Given the description of an element on the screen output the (x, y) to click on. 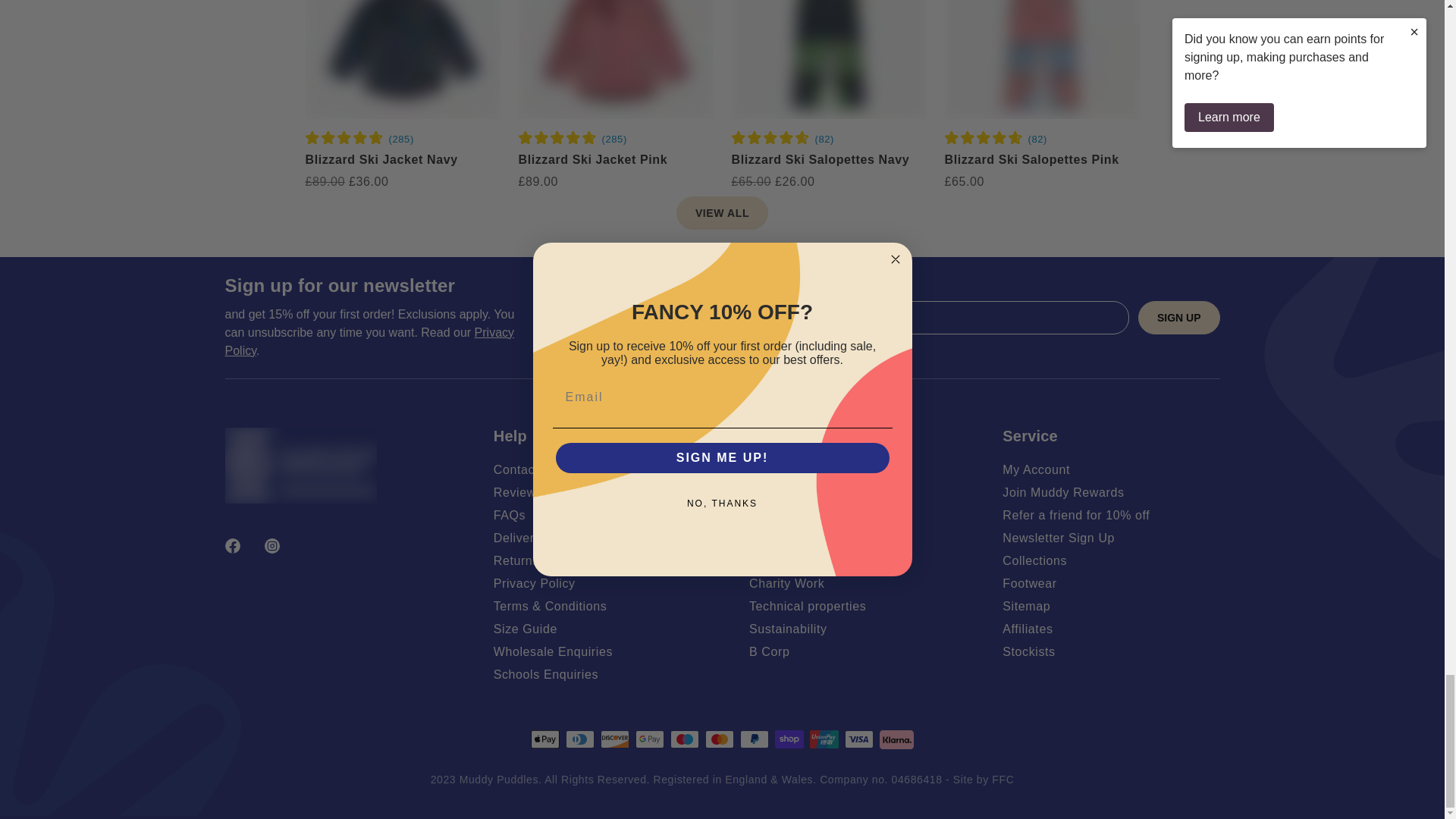
Union Pay (823, 739)
Diners Club (580, 739)
Mastercard (718, 739)
Discover (613, 739)
PayPal (753, 739)
Apple Pay (545, 739)
Privacy Policy (368, 341)
Visa (858, 739)
Maestro (683, 739)
Google Pay (648, 739)
Shop Pay (788, 739)
